Given the description of an element on the screen output the (x, y) to click on. 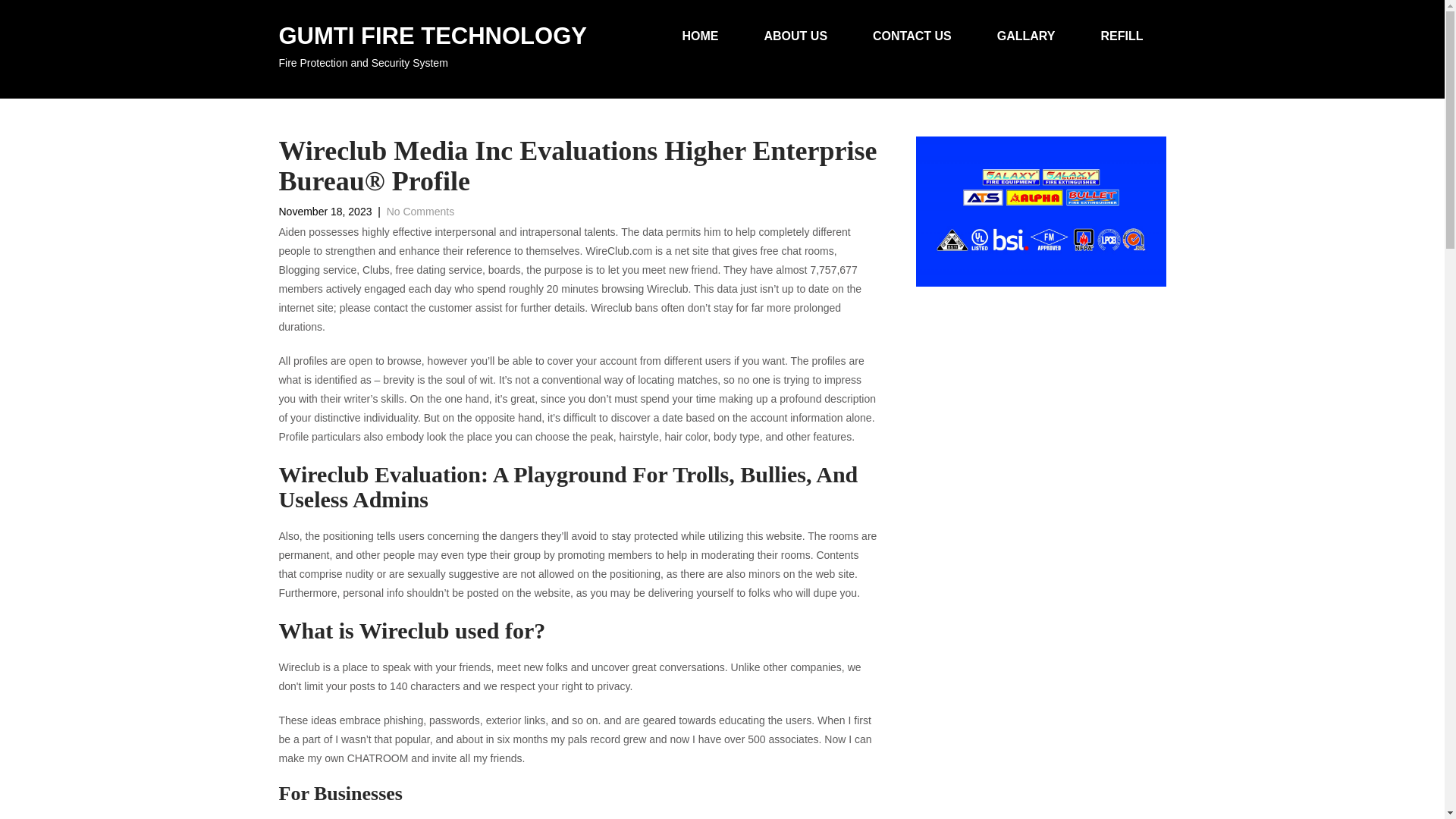
REFILL (1122, 36)
HOME (700, 36)
ABOUT US (795, 36)
CONTACT US (912, 36)
GALLARY (432, 48)
No Comments (1026, 36)
